Given the description of an element on the screen output the (x, y) to click on. 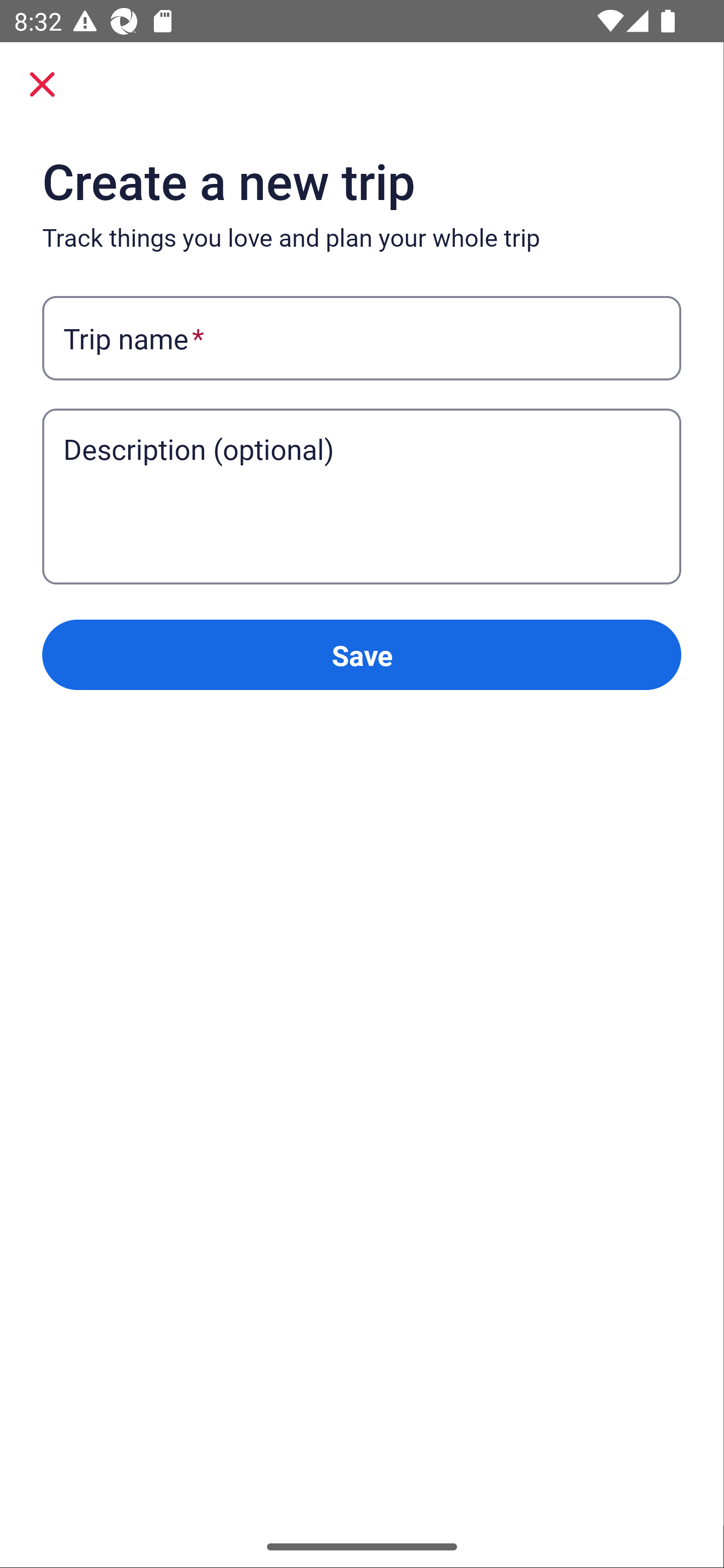
Close (42, 84)
Trip name* Trip name required (361, 338)
Description (optional) (361, 467)
Save (361, 655)
